Given the description of an element on the screen output the (x, y) to click on. 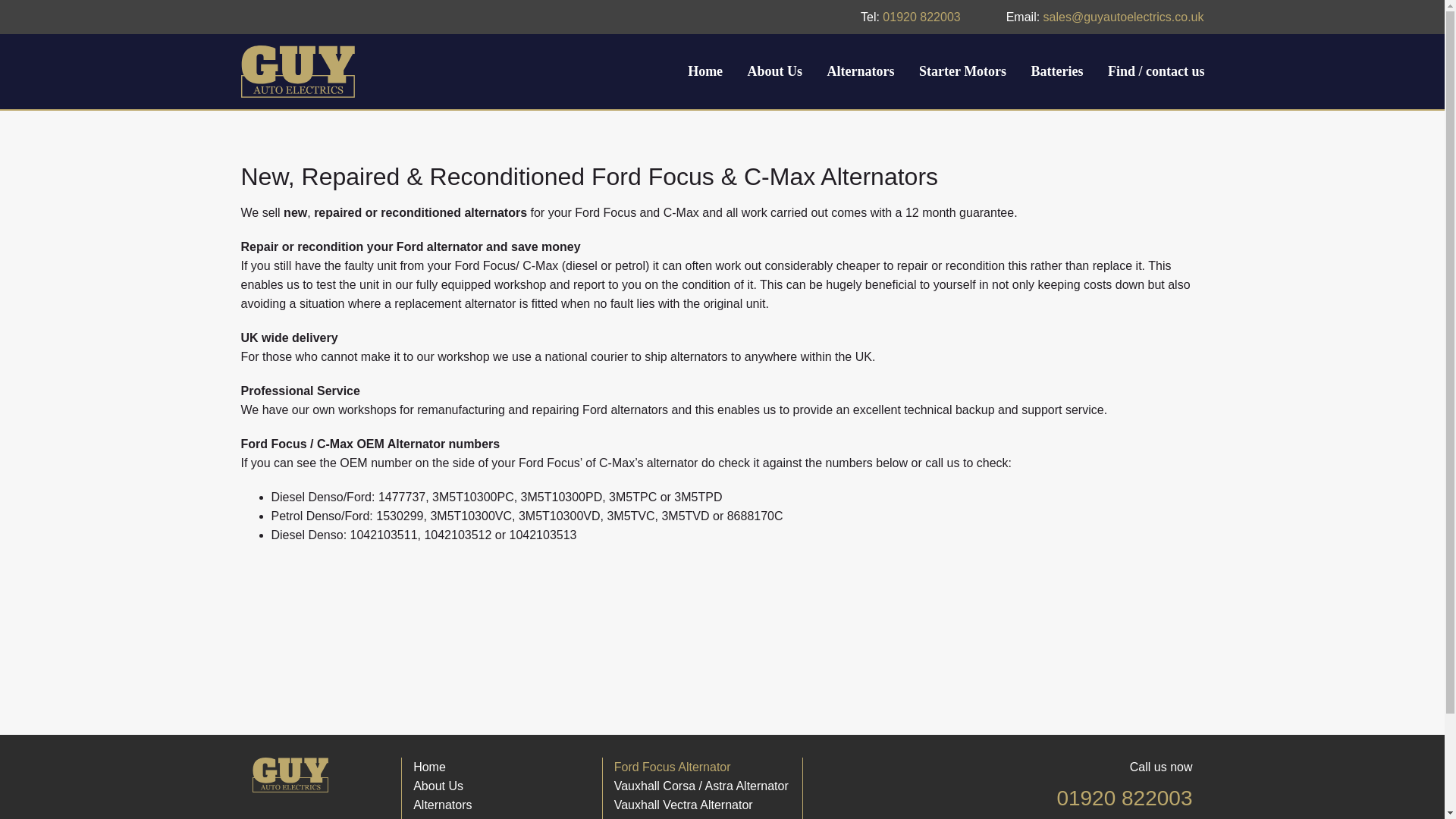
Tel: 01920 822003 (922, 17)
About Us (775, 71)
Alternators (861, 71)
Home (705, 71)
